Given the description of an element on the screen output the (x, y) to click on. 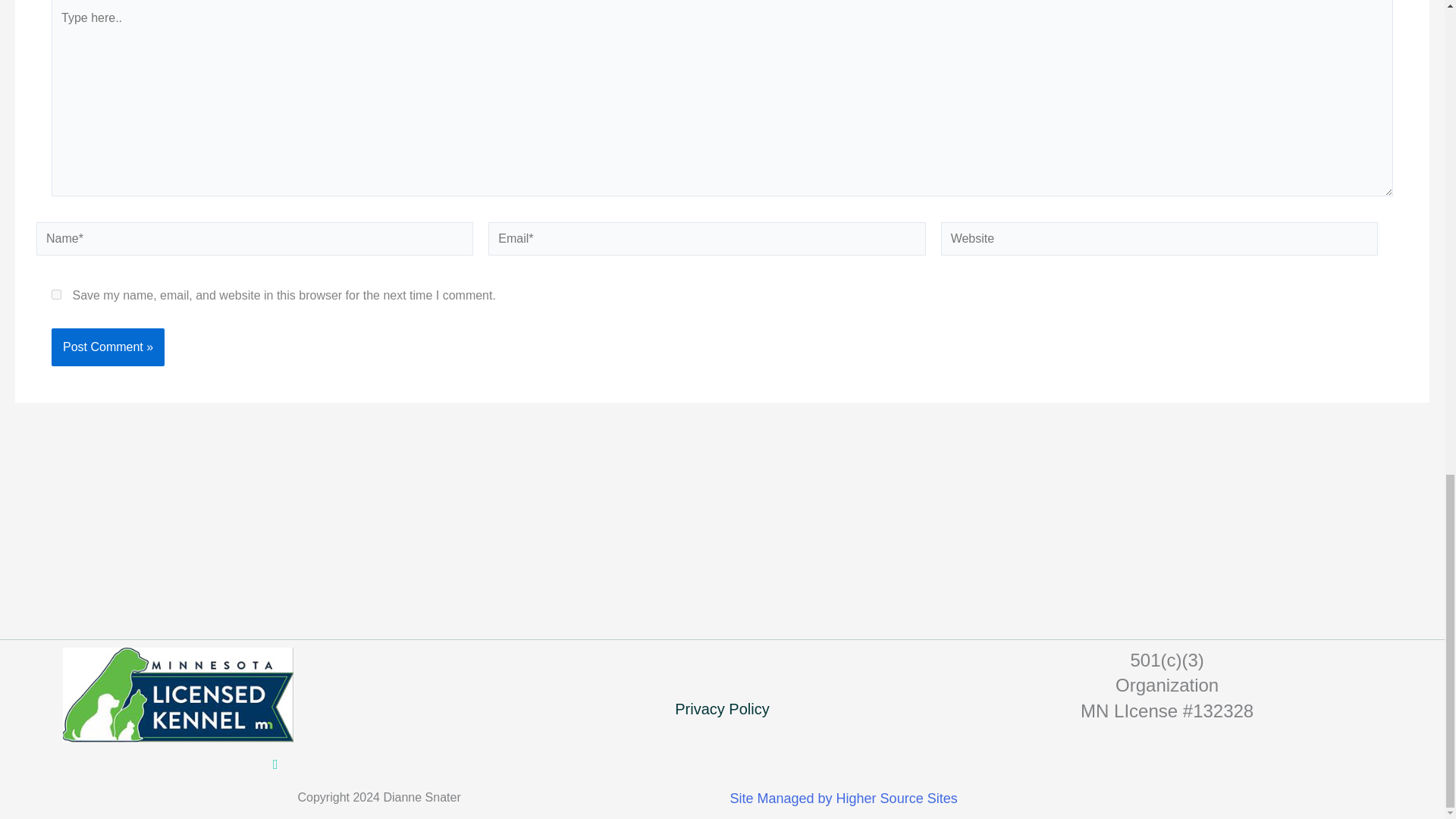
Site Managed by Higher Source Sites (842, 798)
Privacy Policy (721, 708)
yes (55, 294)
